Given the description of an element on the screen output the (x, y) to click on. 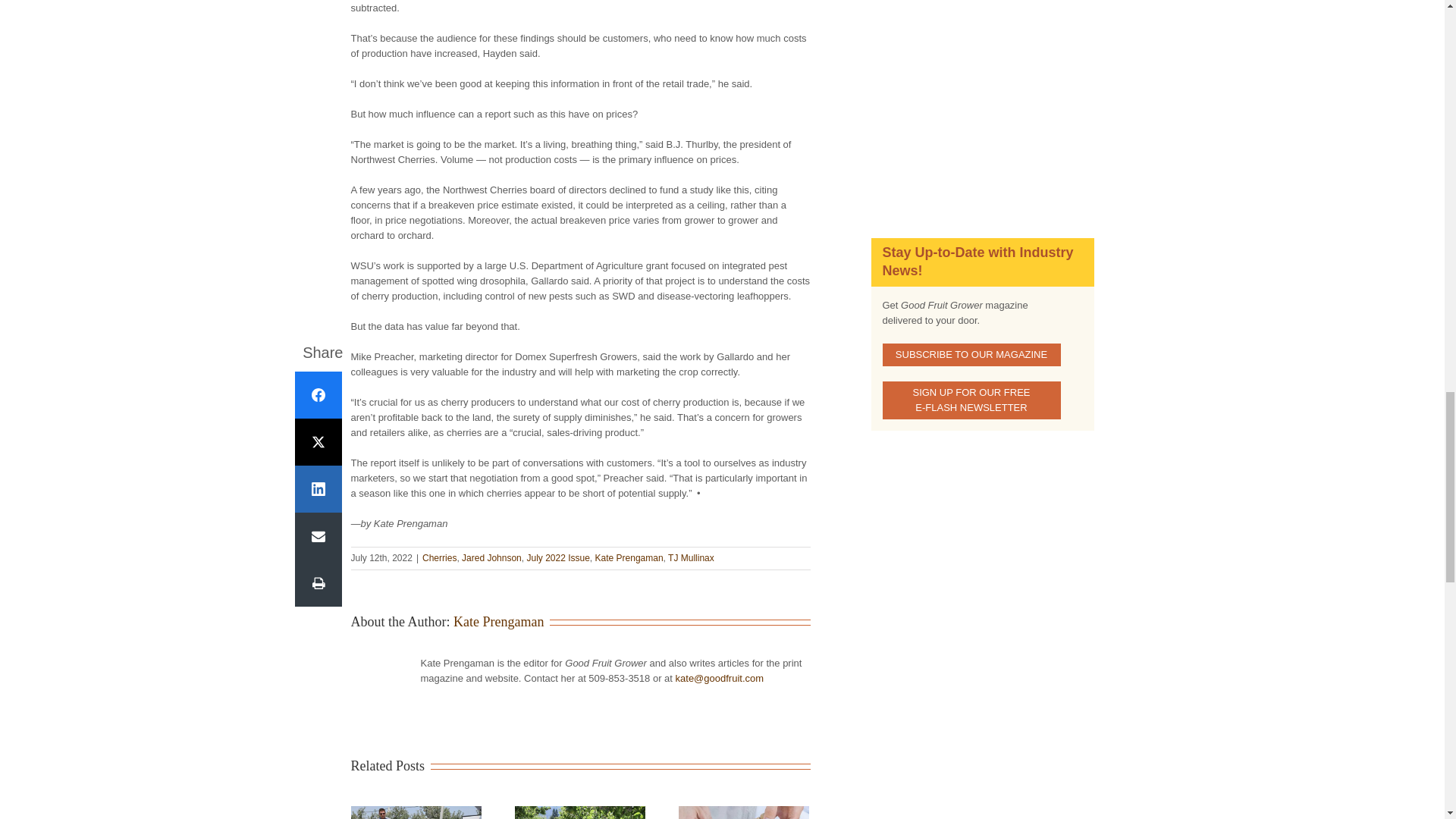
3rd party ad content (981, 101)
Posts by Kate Prengaman (497, 621)
